Given the description of an element on the screen output the (x, y) to click on. 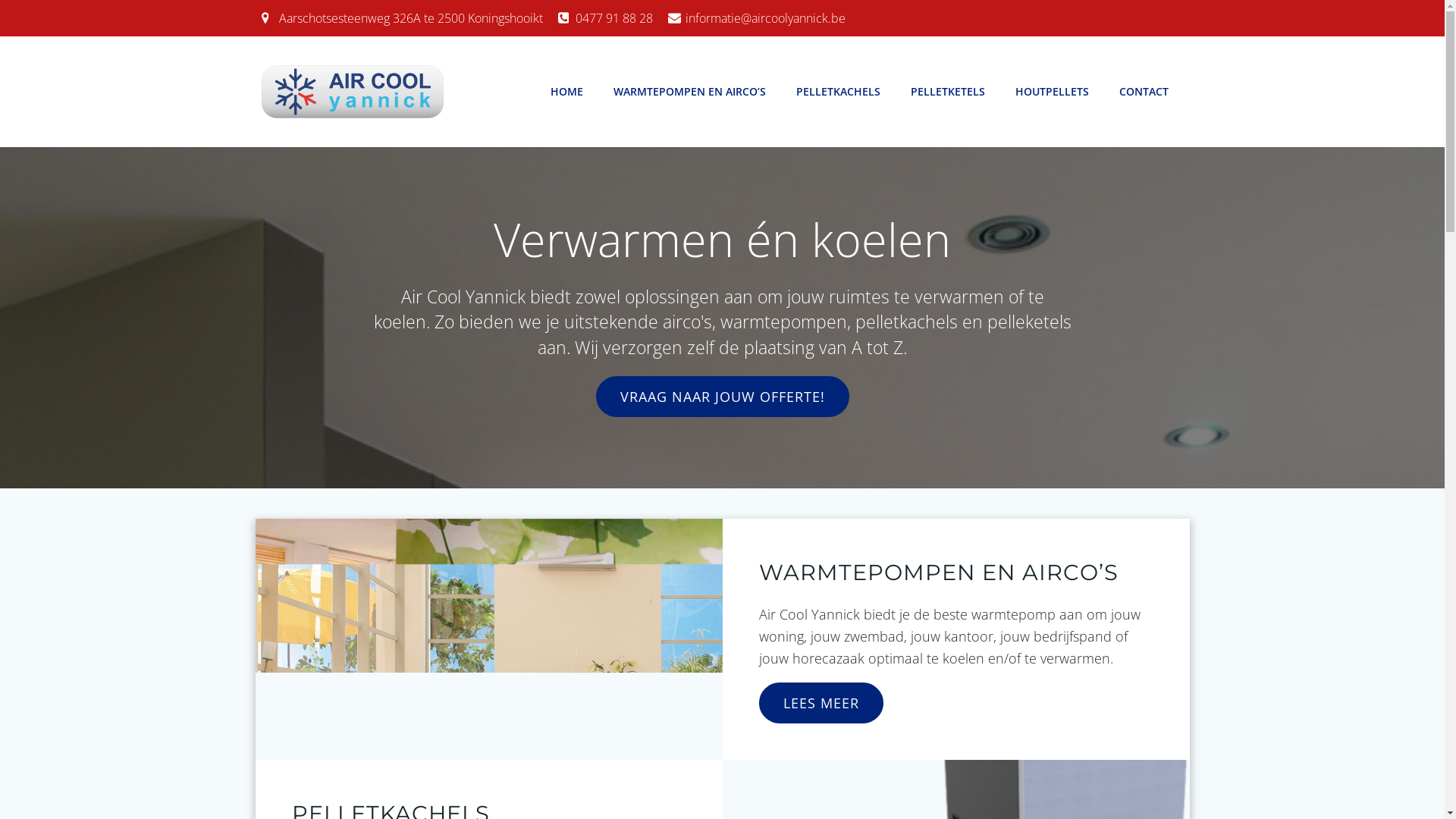
VRAAG NAAR JOUW OFFERTE! Element type: text (722, 396)
PELLETKACHELS Element type: text (838, 91)
HOME Element type: text (566, 91)
Aarschotsesteenweg 326A te 2500 Koningshooikt Element type: text (401, 17)
HOUTPELLETS Element type: text (1051, 91)
LEES MEER Element type: text (820, 702)
0477 91 88 28 Element type: text (605, 17)
PELLETKETELS Element type: text (947, 91)
CONTACT Element type: text (1143, 91)
informatie@aircoolyannick.be Element type: text (755, 17)
